Given the description of an element on the screen output the (x, y) to click on. 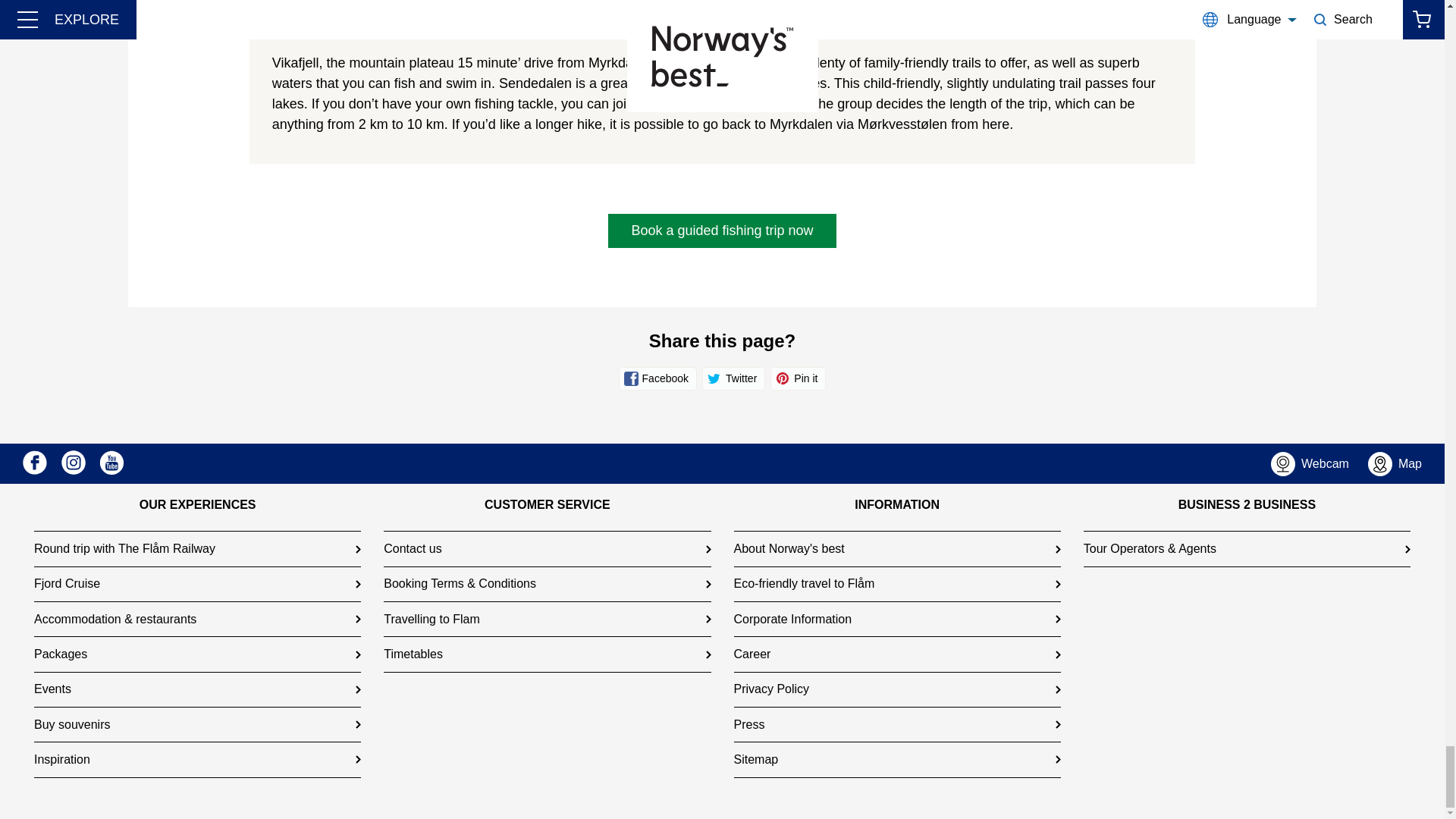
Youtube (111, 462)
Instagram (73, 462)
Guided family fishing trip (745, 103)
Facebook (34, 462)
